Given the description of an element on the screen output the (x, y) to click on. 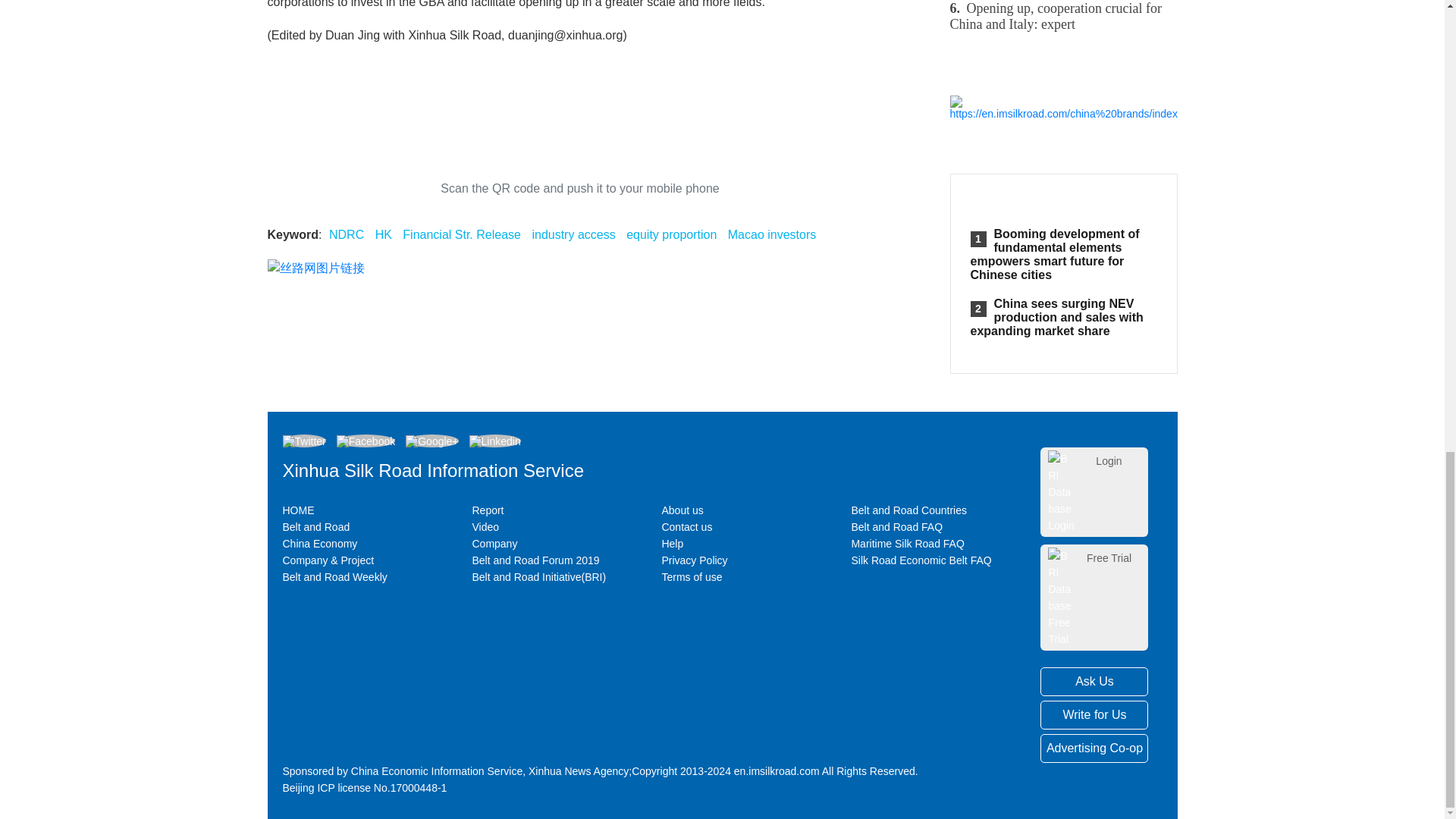
Opening up, cooperation crucial for China and Italy: expert (1062, 15)
